Given the description of an element on the screen output the (x, y) to click on. 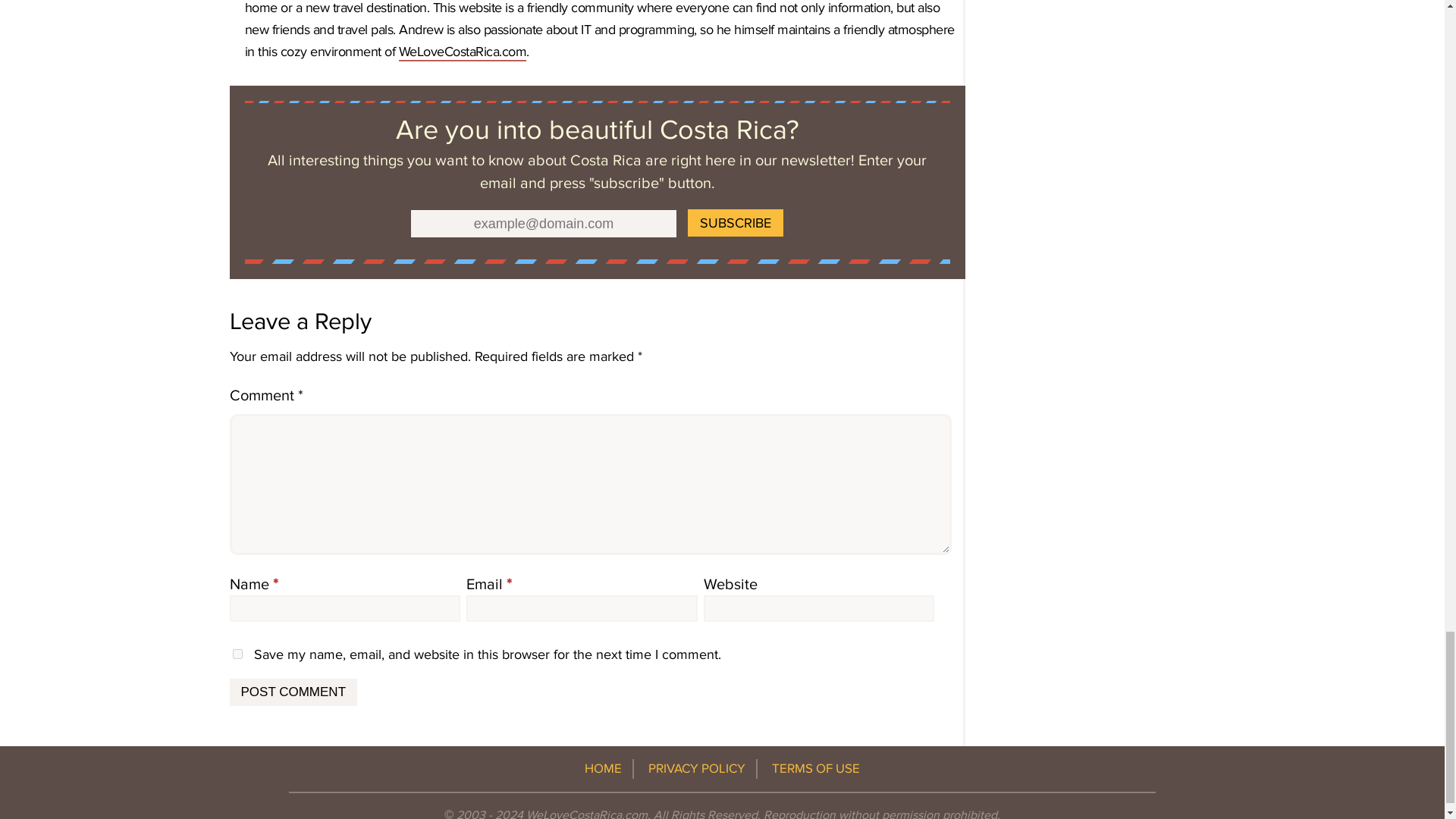
yes (236, 654)
Post Comment (292, 691)
